Given the description of an element on the screen output the (x, y) to click on. 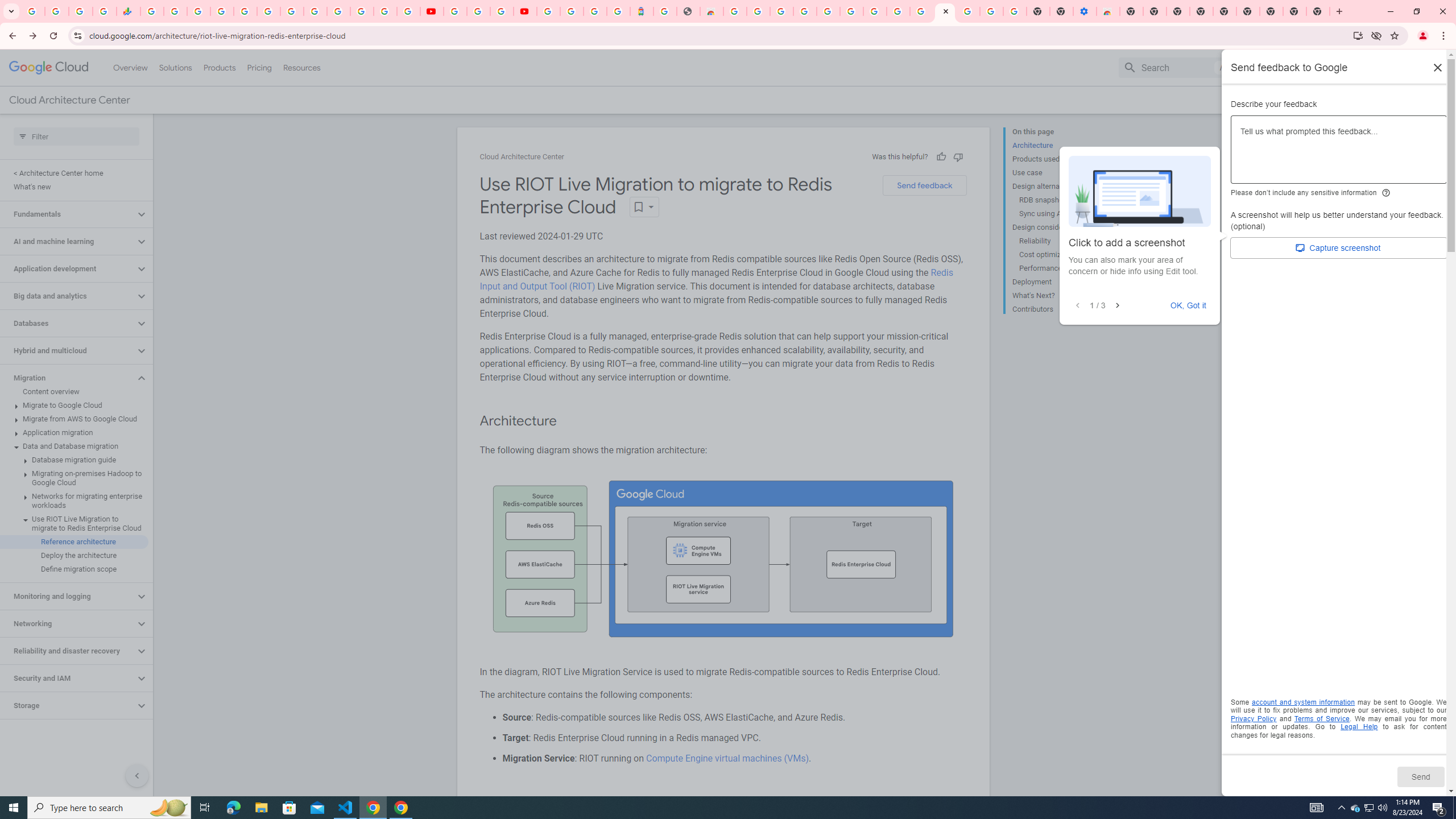
Fundamentals (67, 214)
Capture screenshot (1338, 247)
Content Creator Programs & Opportunities - YouTube Creators (524, 11)
Deploy the architecture (74, 555)
Google Account Help (992, 11)
Create your Google Account (897, 11)
Google Account Help (478, 11)
